Given the description of an element on the screen output the (x, y) to click on. 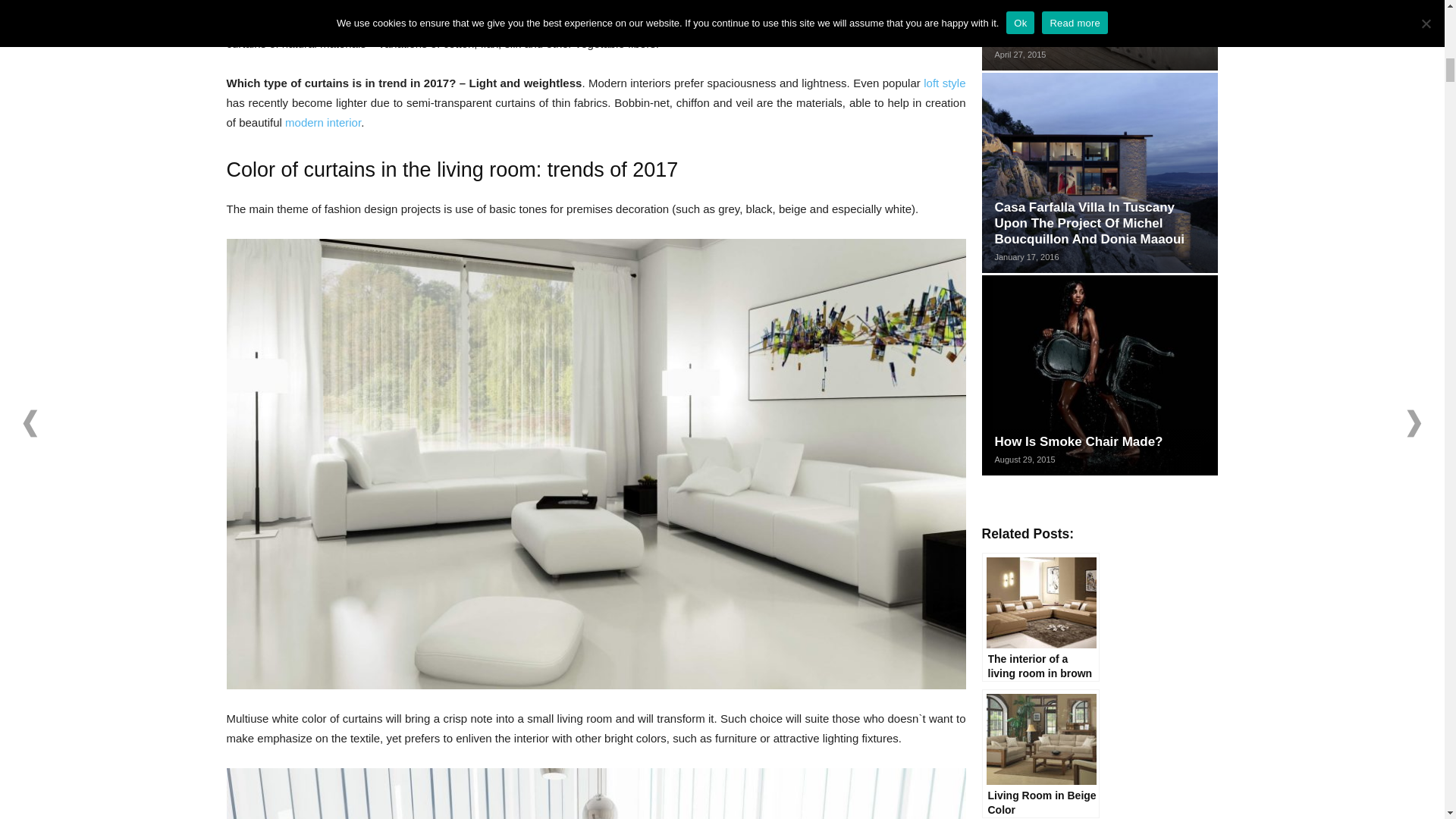
modern interior (323, 122)
loft style (944, 82)
